Given the description of an element on the screen output the (x, y) to click on. 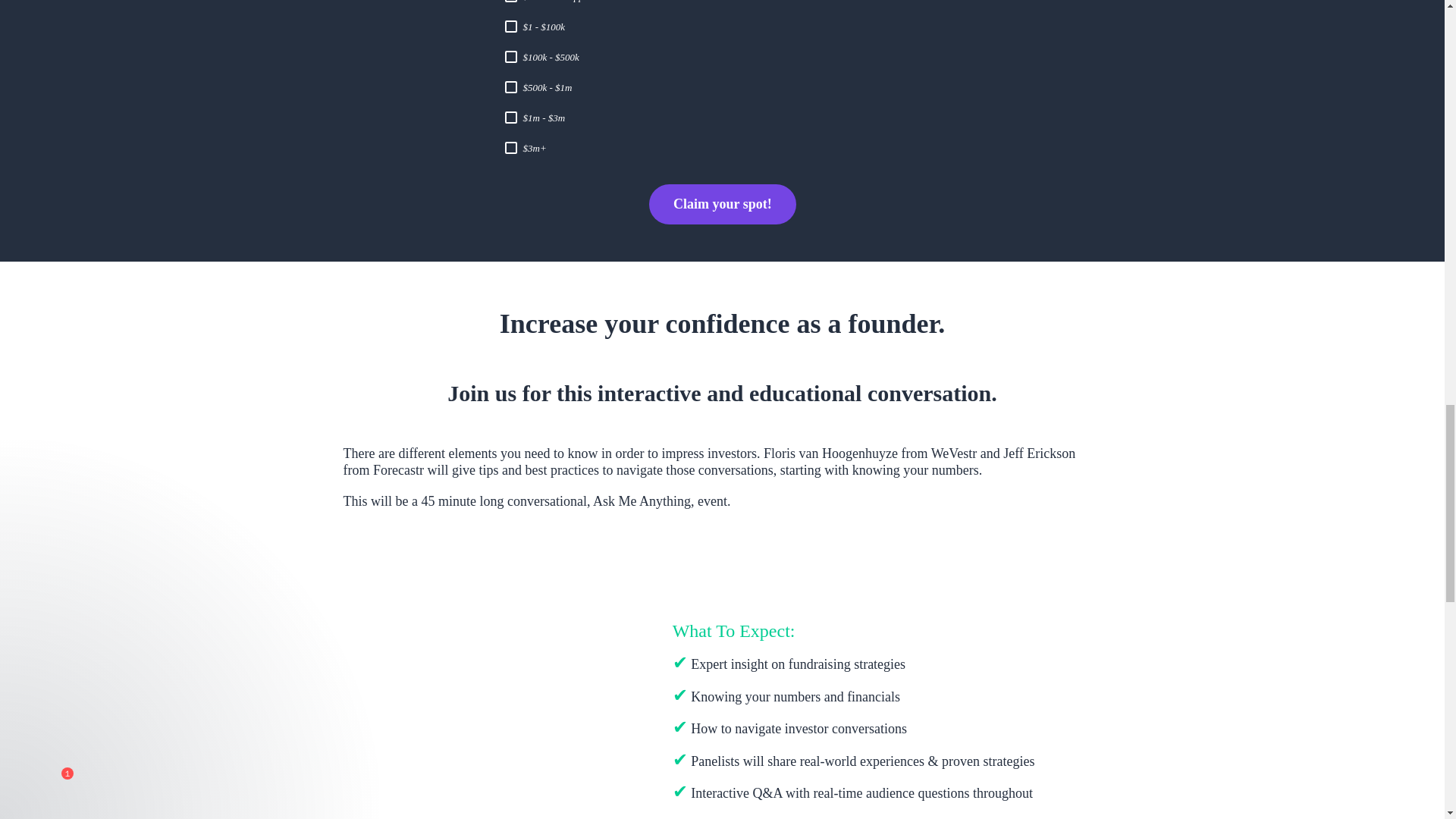
Claim your spot! (722, 204)
